Given the description of an element on the screen output the (x, y) to click on. 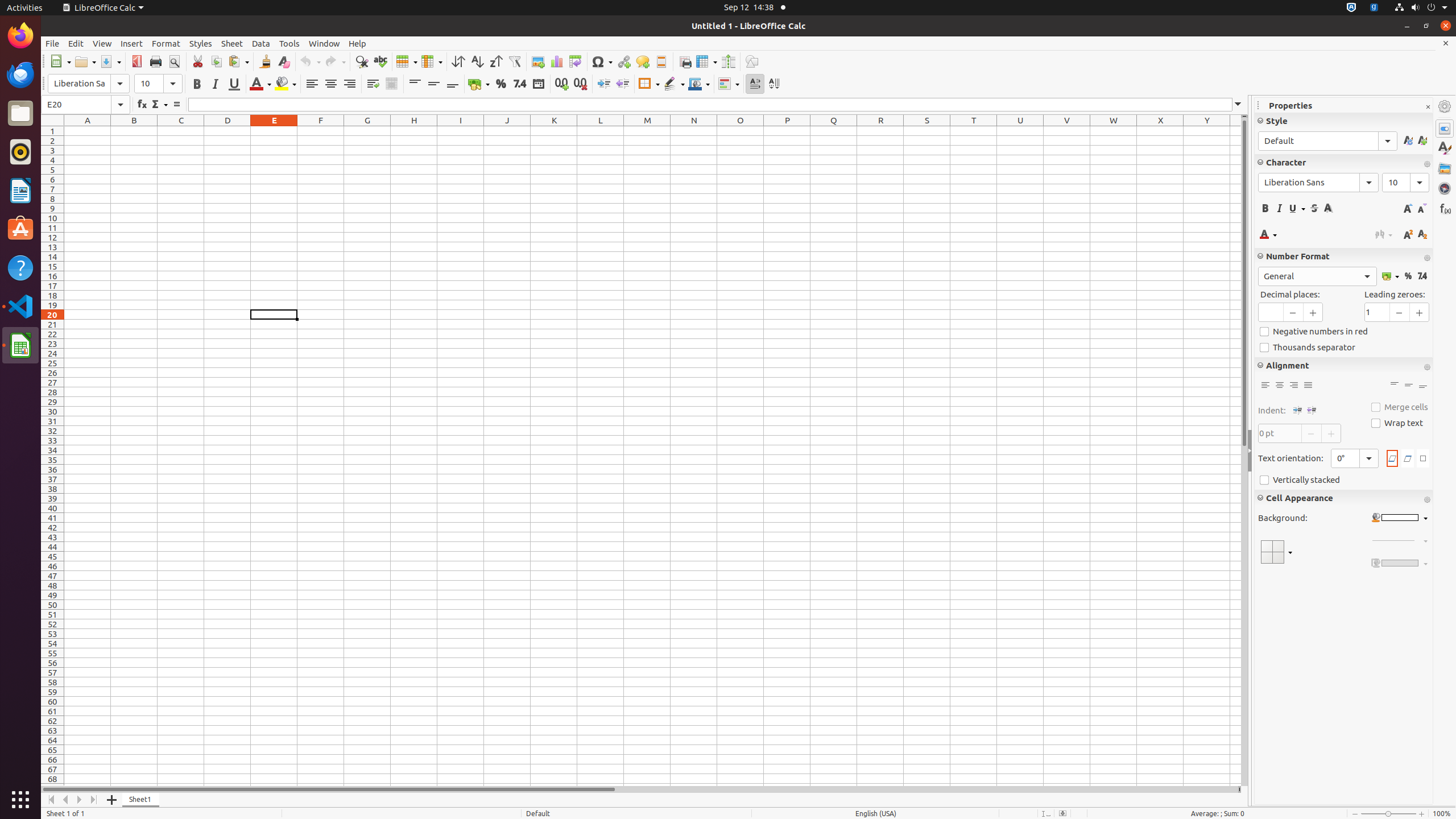
Align Left Element type: push-button (311, 83)
Increase Element type: push-button (603, 83)
Row Element type: push-button (406, 61)
Currency Element type: push-button (478, 83)
Justified Element type: toggle-button (1307, 385)
